Given the description of an element on the screen output the (x, y) to click on. 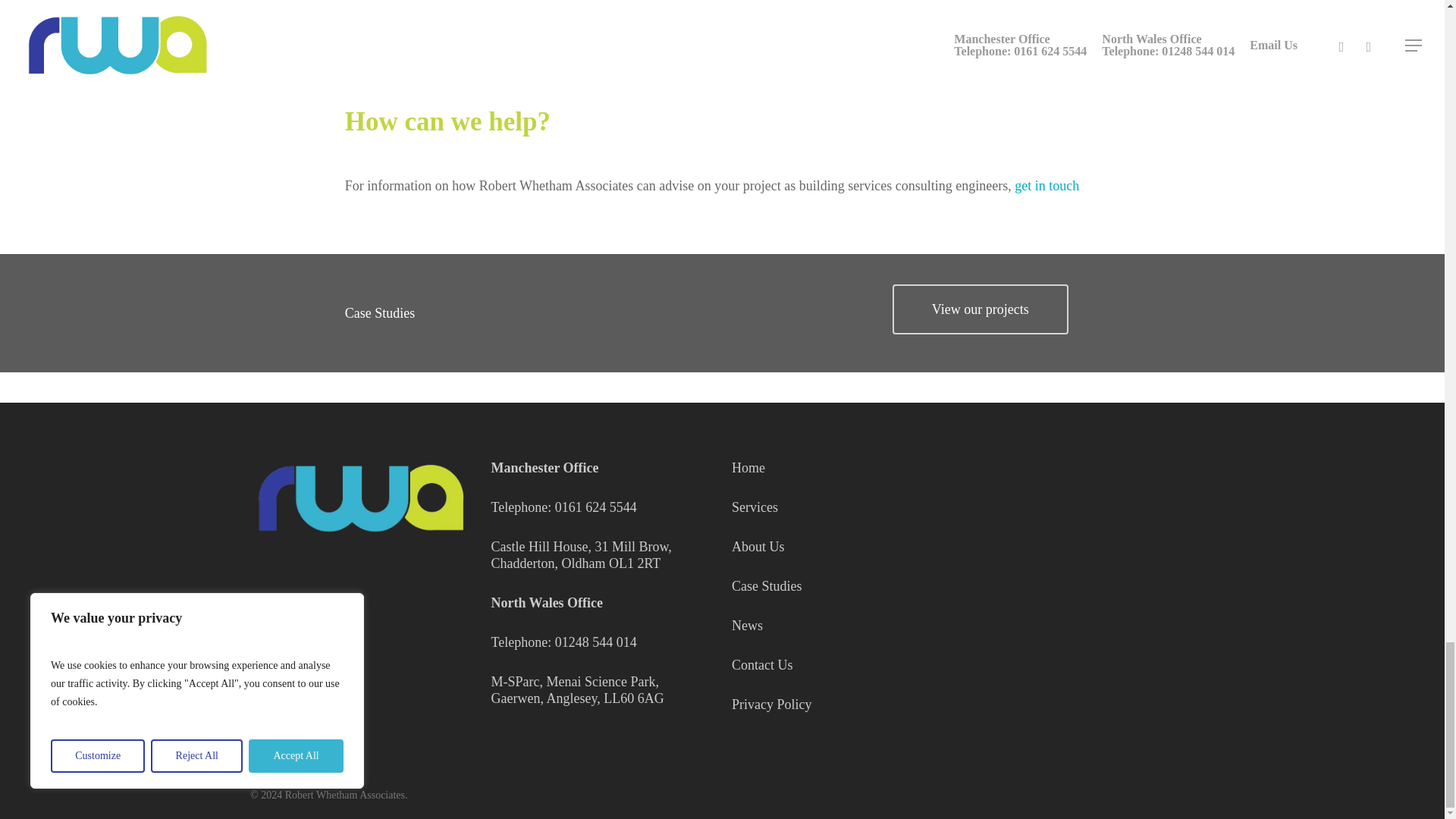
Privacy Policy (772, 703)
Services (754, 507)
Home (748, 467)
Case Studies (767, 585)
View our projects (980, 309)
News (747, 625)
get in touch (1046, 185)
Contact Us (762, 664)
About Us (758, 546)
